Given the description of an element on the screen output the (x, y) to click on. 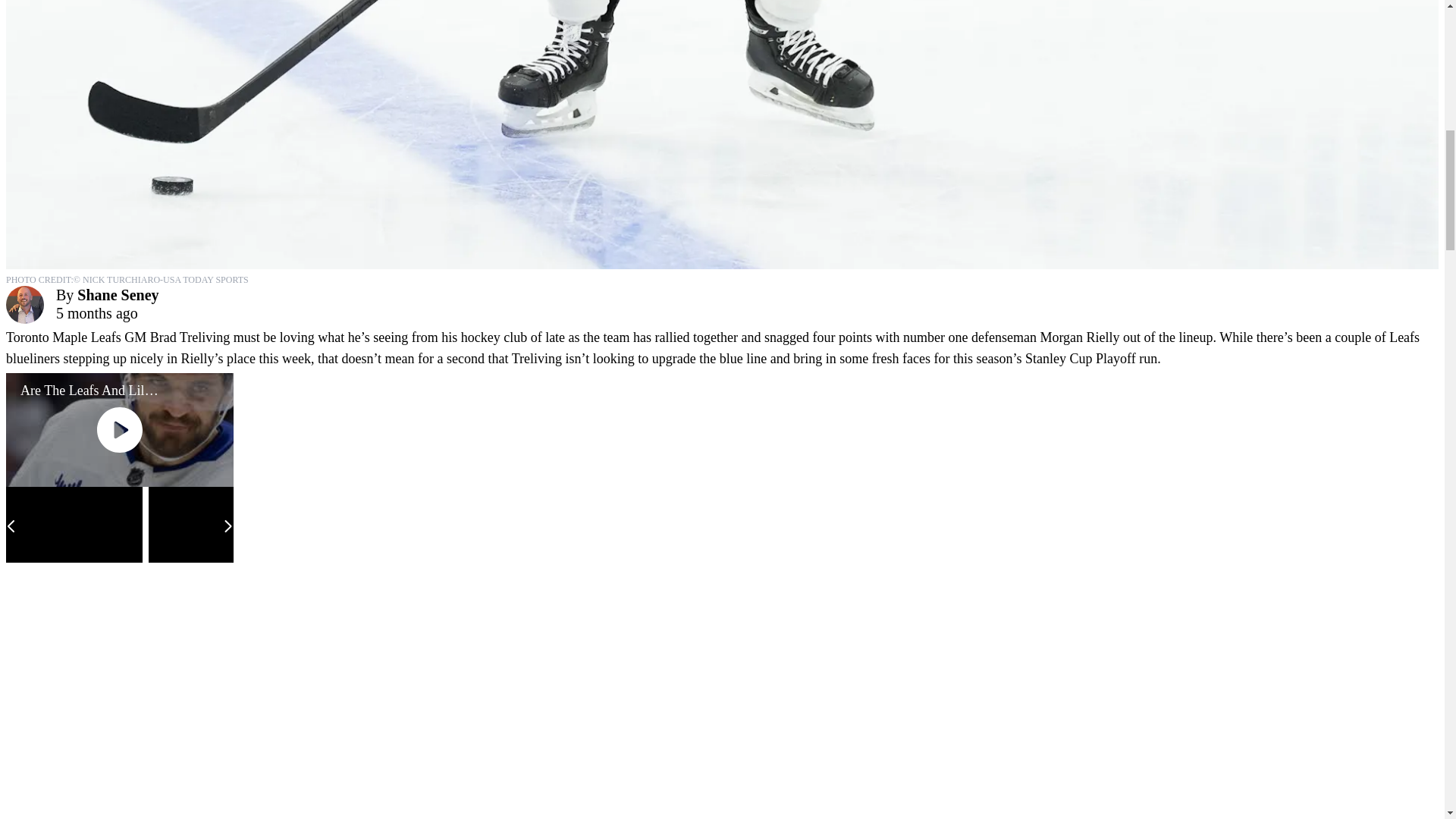
Shane Seney (117, 294)
